Given the description of an element on the screen output the (x, y) to click on. 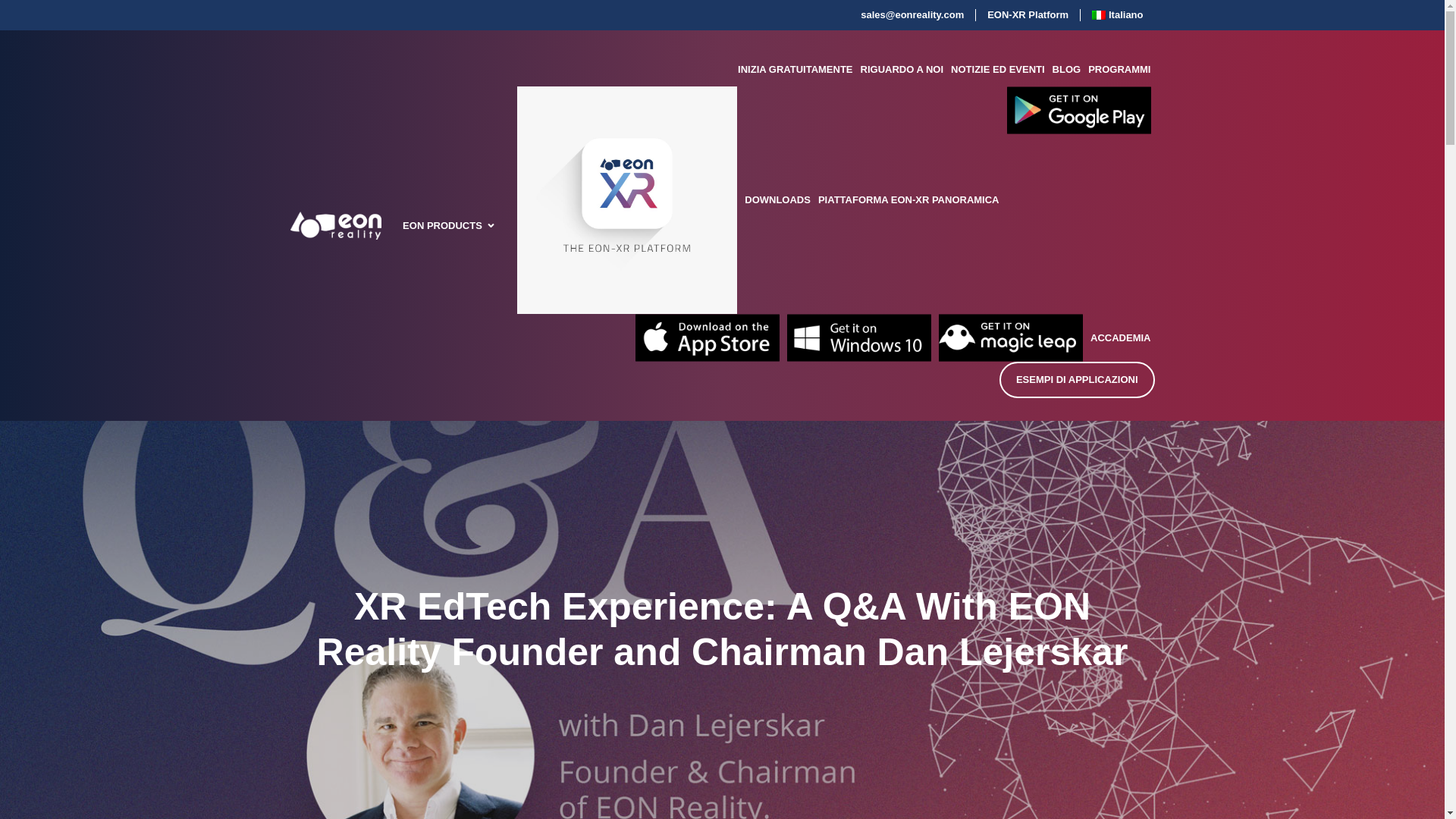
EON PRODUCTS (442, 225)
EON-XR Platform (1027, 14)
Italiano (1117, 14)
Italiano (1117, 14)
